Given the description of an element on the screen output the (x, y) to click on. 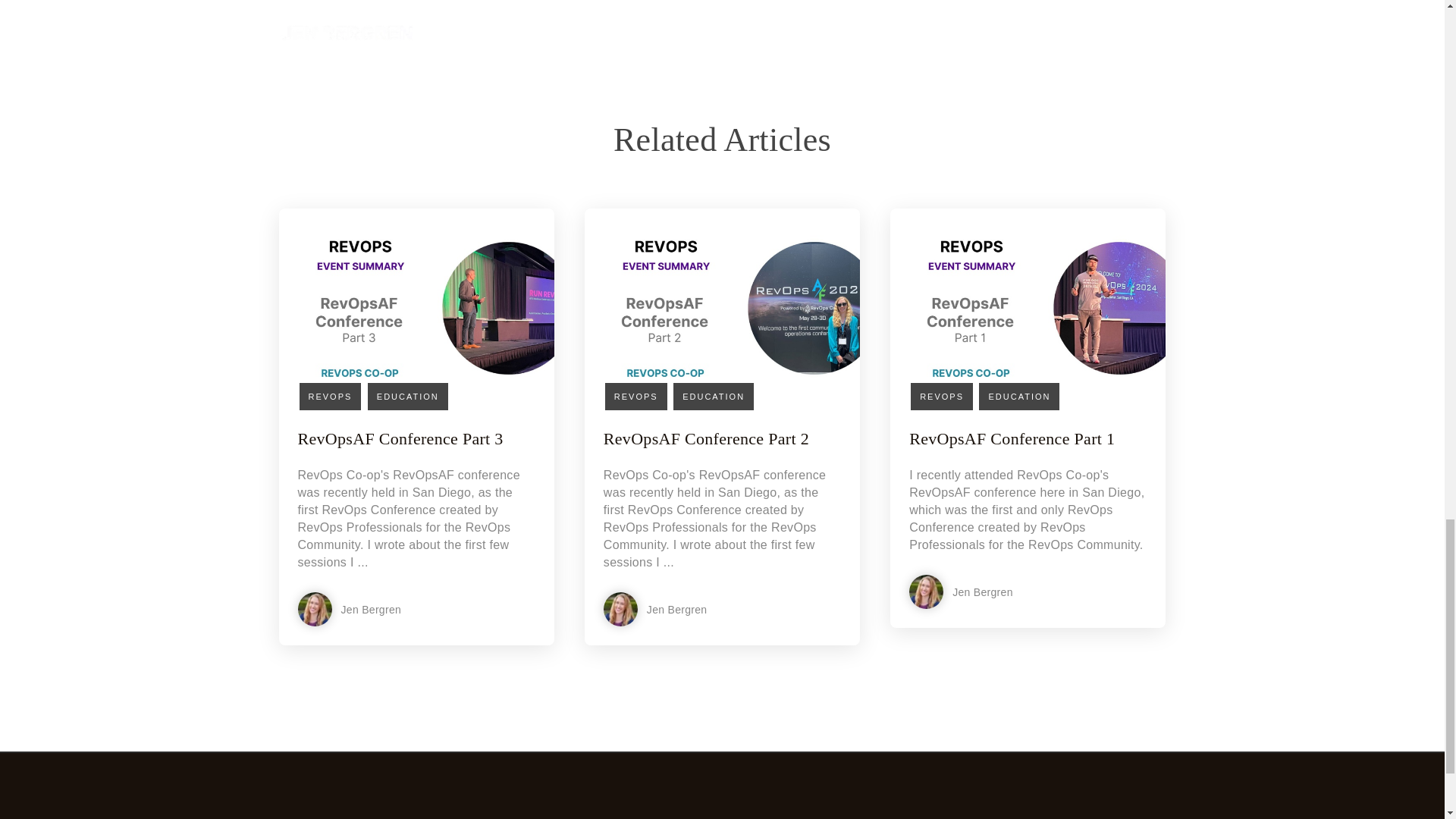
REVOPS (329, 396)
RevOpsAF Conference Part 2 (706, 438)
Jen Bergren (698, 609)
Jen Bergren (392, 609)
EDUCATION (1018, 396)
RevOpsAF Conference Part 3 (399, 438)
REVOPS (635, 396)
REVOPS (941, 396)
EDUCATION (408, 396)
EDUCATION (713, 396)
